Given the description of an element on the screen output the (x, y) to click on. 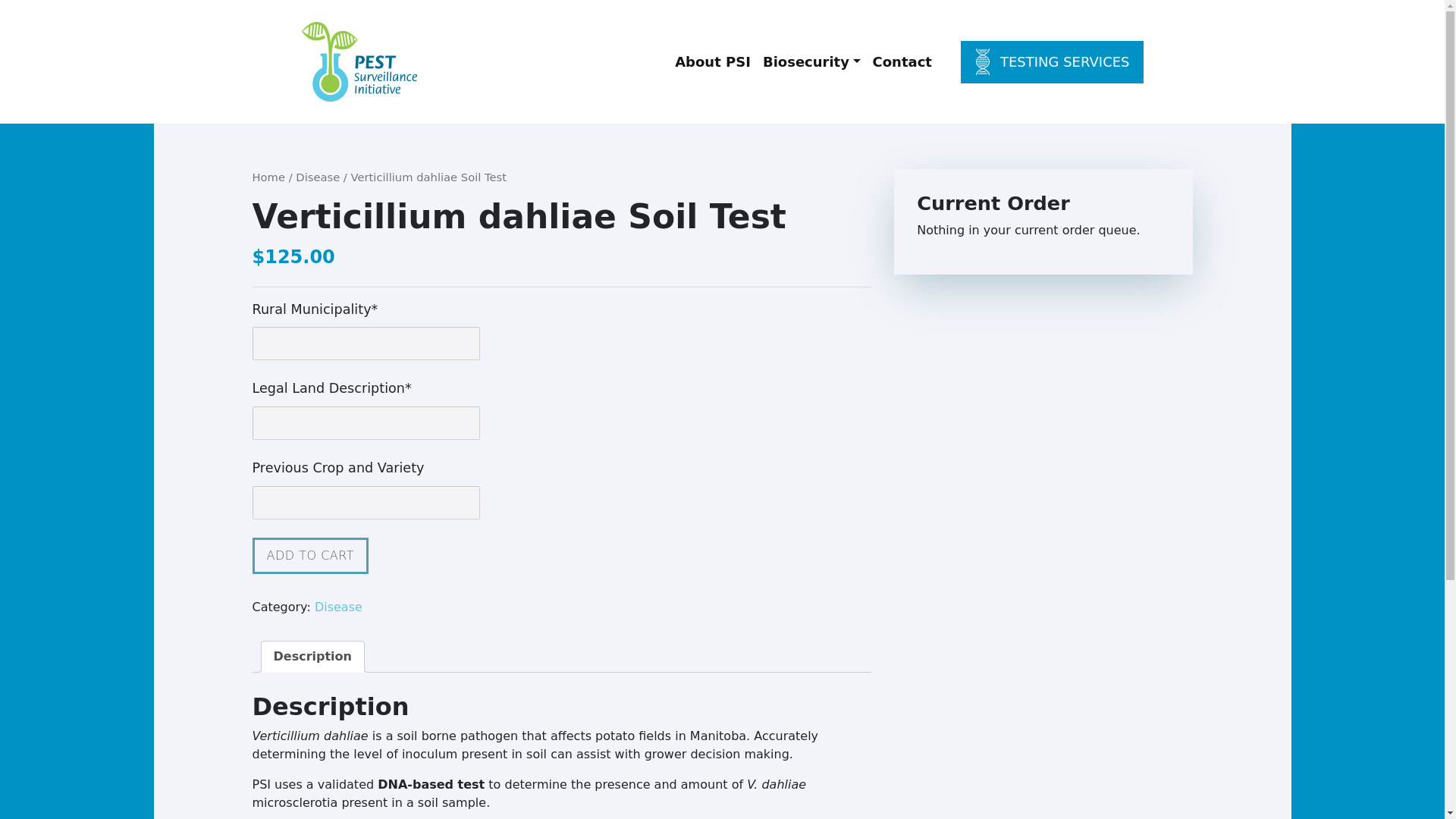
TESTING SERVICES (1051, 61)
Disease (317, 176)
Biosecurity (811, 61)
Contact (901, 61)
About PSI (712, 61)
About PSI (712, 61)
ADD TO CART (309, 555)
Contact (901, 61)
Description (311, 656)
Disease (338, 606)
